Given the description of an element on the screen output the (x, y) to click on. 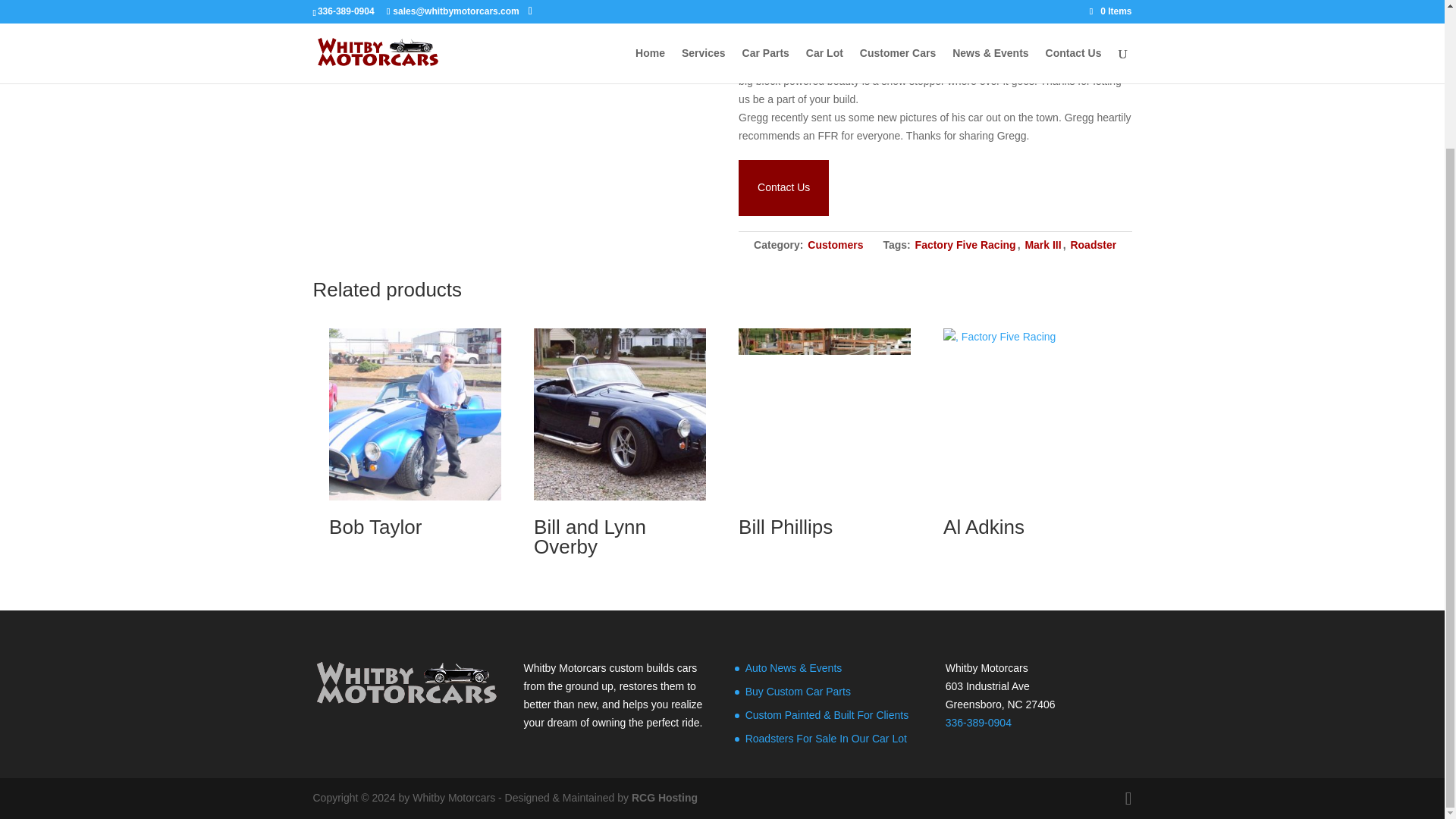
Roadsters For Sale In Our Car Lot (826, 738)
33 hot rod,  33 Hot Rod, Factory Five Racing (824, 414)
Contact us about your custom car or part request! (783, 186)
Factory Five Racing (965, 244)
dsc04019,  Factory Five Racing, Mark III, Roadster (414, 414)
Contact Us (783, 186)
Mark III (1042, 244)
we build custom rides and classic cars (406, 684)
RCG Hosting (664, 797)
Customers (835, 244)
